Given the description of an element on the screen output the (x, y) to click on. 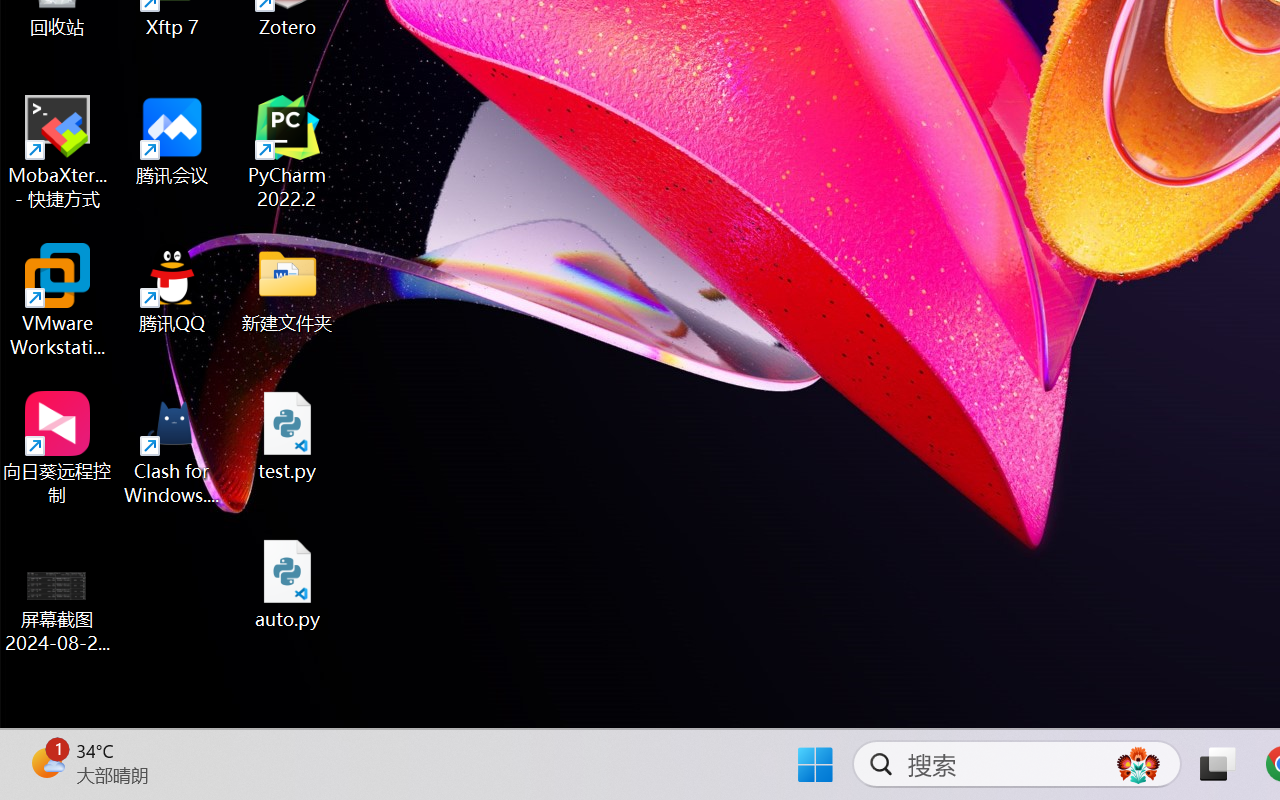
PyCharm 2022.2 (287, 152)
